Given the description of an element on the screen output the (x, y) to click on. 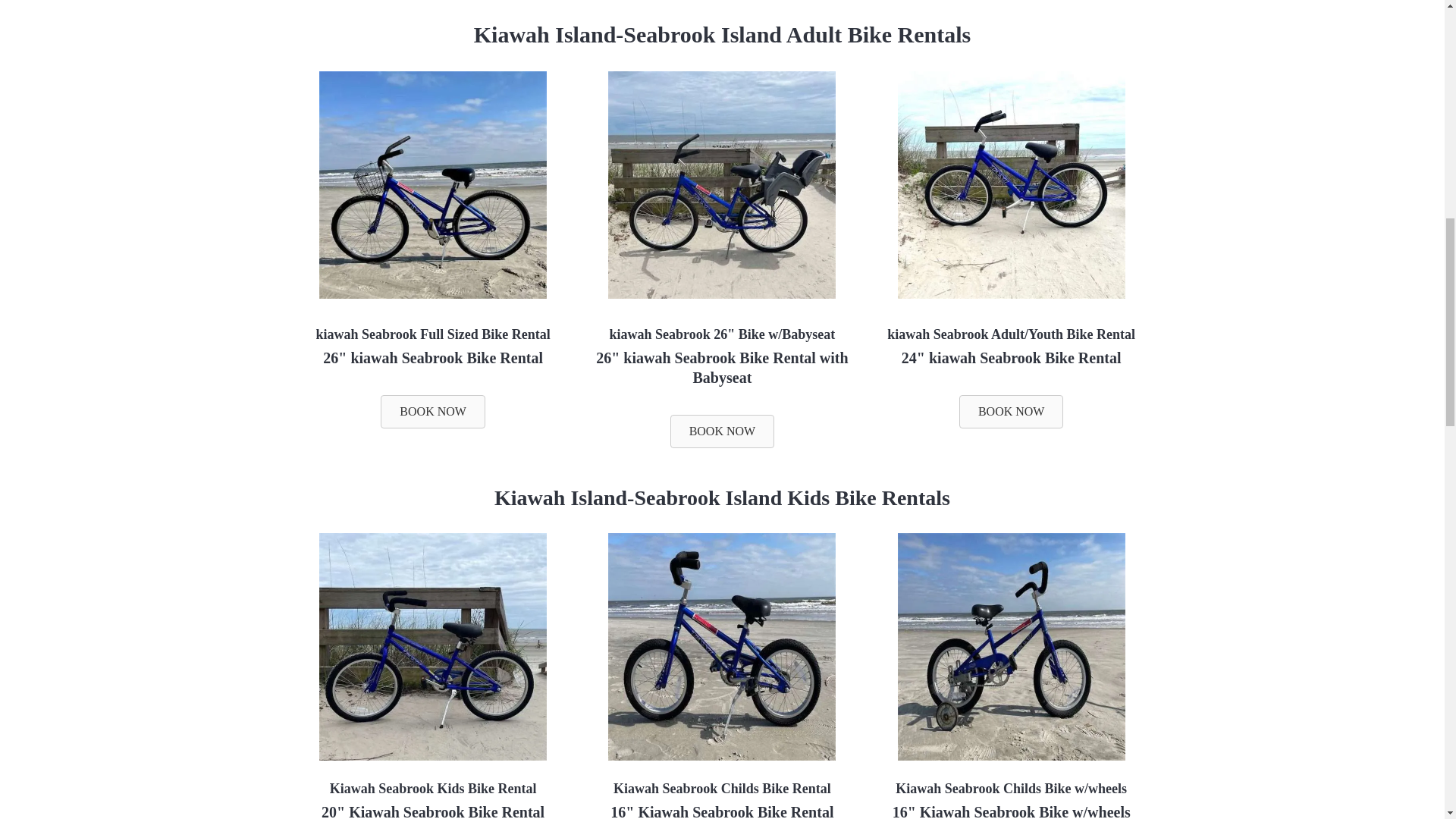
16ww-kiawah-seabrook-bike-rental (1011, 646)
16 Inch Kids Bike Rental Kiawah Seabrook (721, 756)
BOOK NOW (721, 430)
BOOK NOW (432, 411)
26ws-kiawah-seabrook-bike-rental (721, 184)
26" kiawah Seabrook Bike Rental (433, 357)
26in-kiawah-seabrook-bike-rental (432, 184)
kiawah Seabrook Full Sized Bike Rental (432, 334)
20" Kiawah Seabrook Bike Rental (432, 811)
Kiawah Island-Seabrook Island adult Bike Rental (432, 295)
Kiawah Seabrook Kids Bike Rental (433, 788)
16in-kiawah-seabrook-bike-rental (721, 646)
Kiawah Island Seabrook Island midsized bike rental (1011, 295)
